Given the description of an element on the screen output the (x, y) to click on. 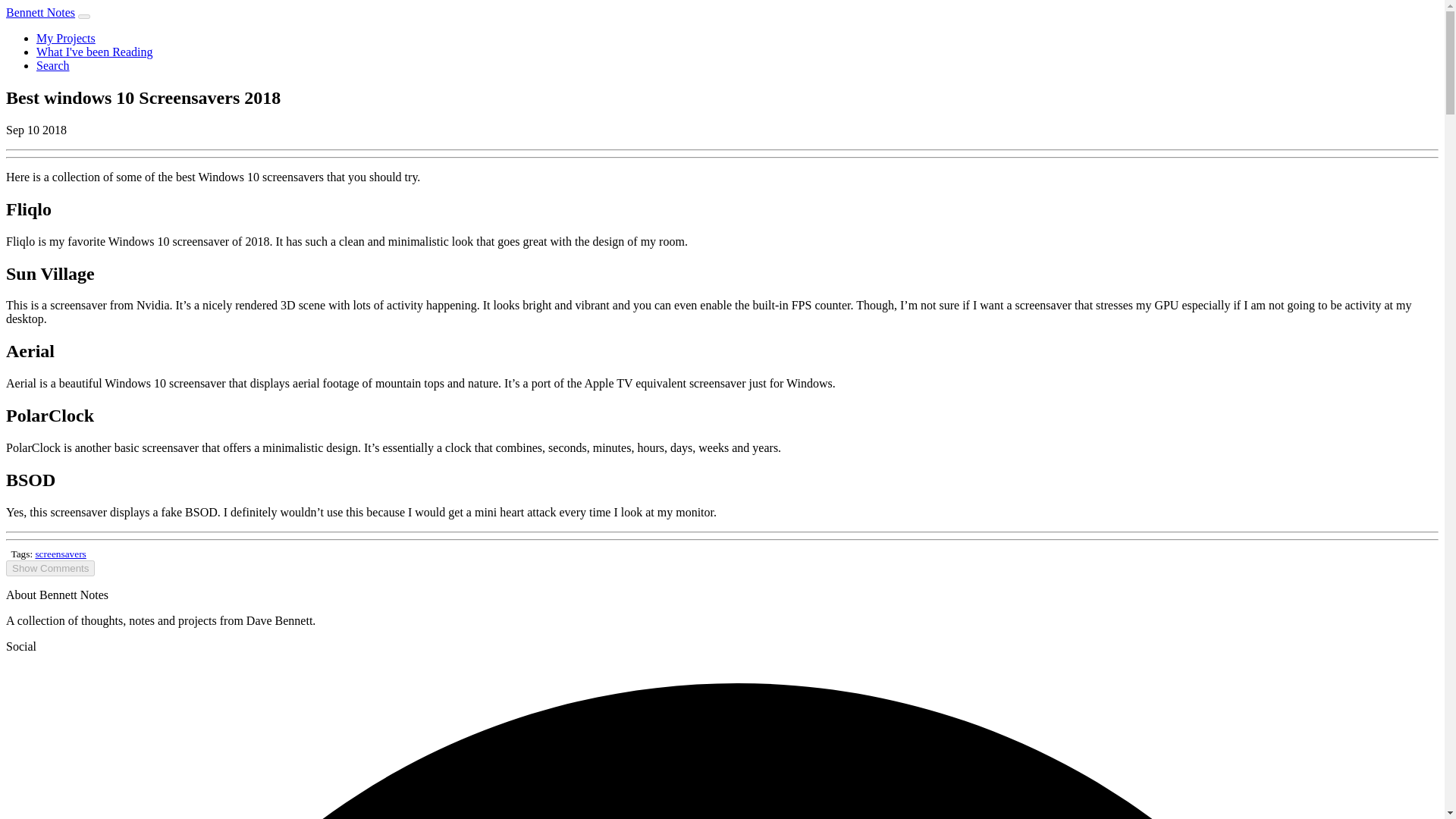
Bennett Notes (40, 11)
screensavers (59, 553)
Show Comments (49, 568)
My Projects (66, 38)
Search (52, 65)
What I've been Reading (94, 51)
